Given the description of an element on the screen output the (x, y) to click on. 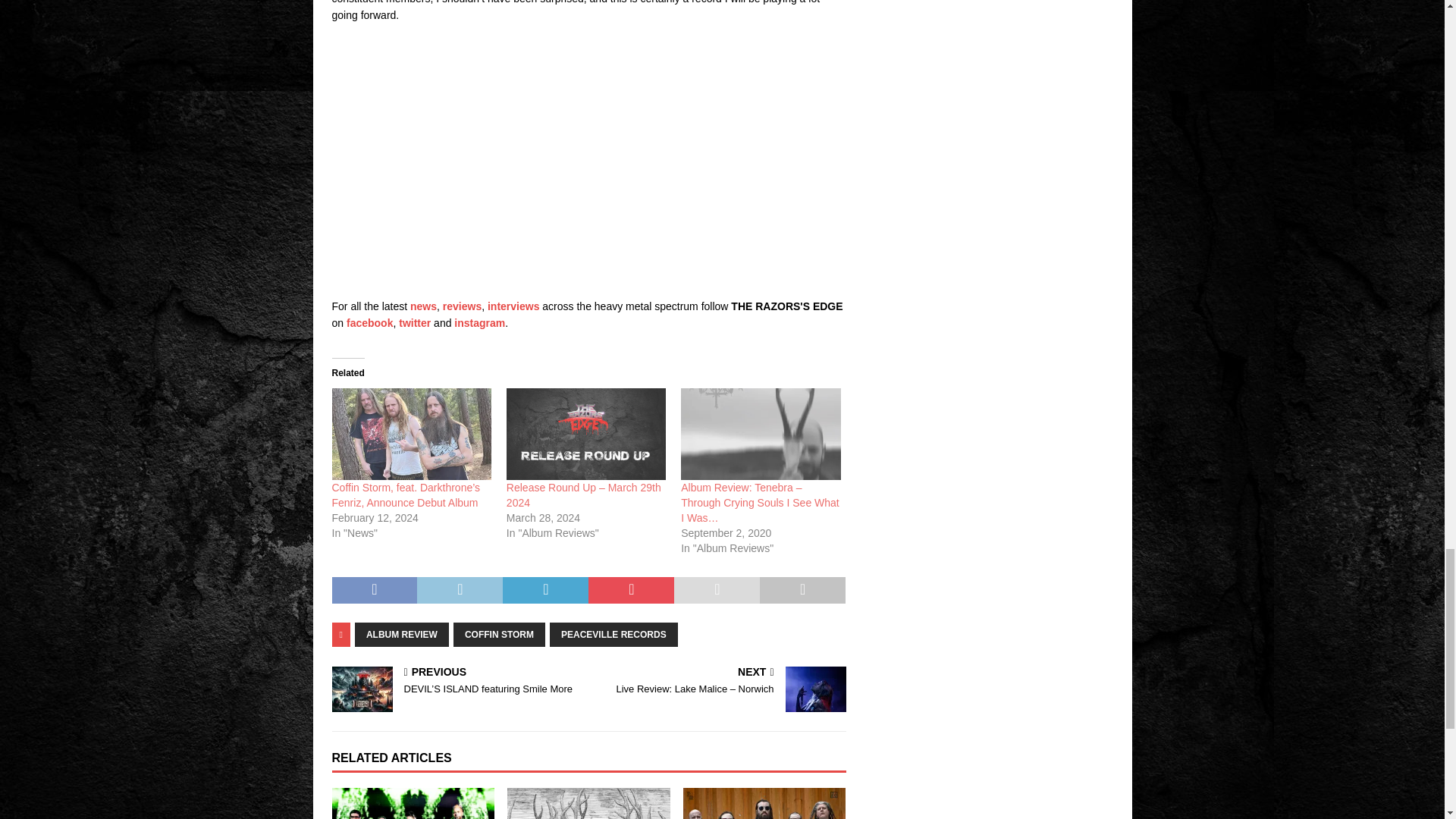
YouTube video player (544, 158)
